Given the description of an element on the screen output the (x, y) to click on. 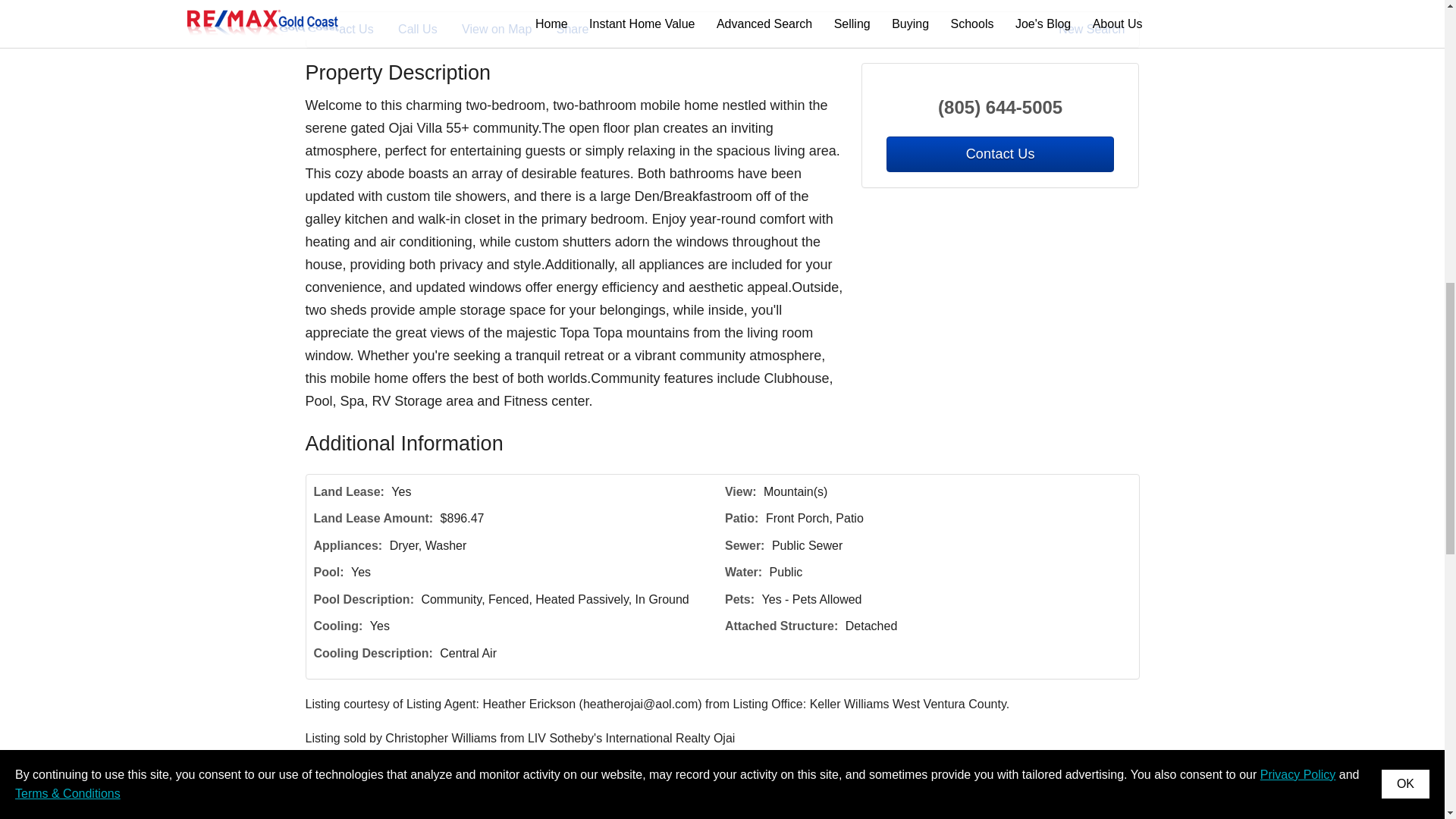
View on Map (507, 29)
Contact Us (999, 153)
Call Us (427, 29)
New Search (1094, 29)
Contact Us (354, 29)
Share (583, 29)
